Given the description of an element on the screen output the (x, y) to click on. 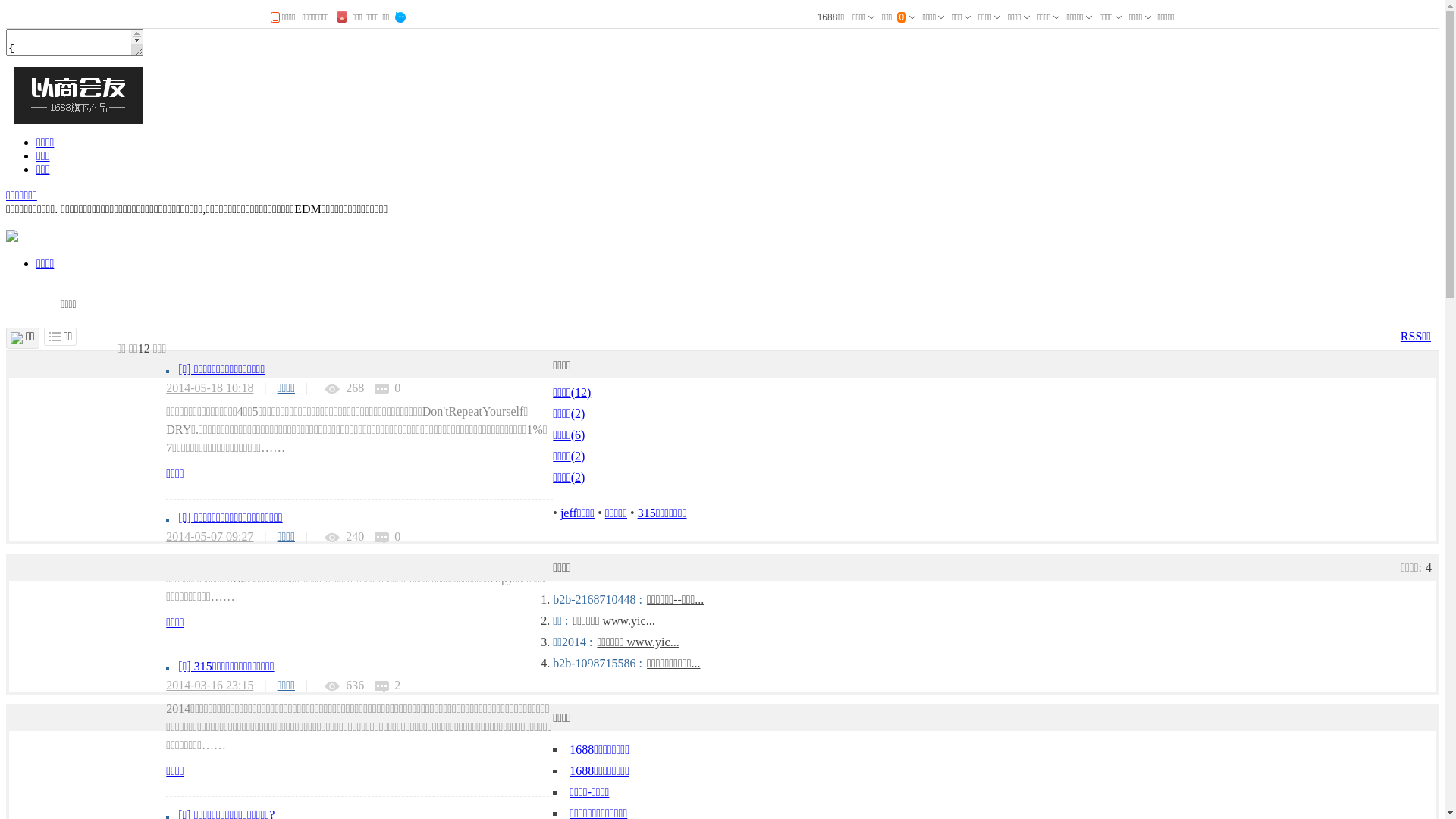
2014-05-18 10:18 Element type: text (209, 387)
2014-03-16 23:15 Element type: text (209, 684)
bochaoinfo Element type: hover (12, 237)
2014-05-07 09:27 Element type: text (209, 536)
